Given the description of an element on the screen output the (x, y) to click on. 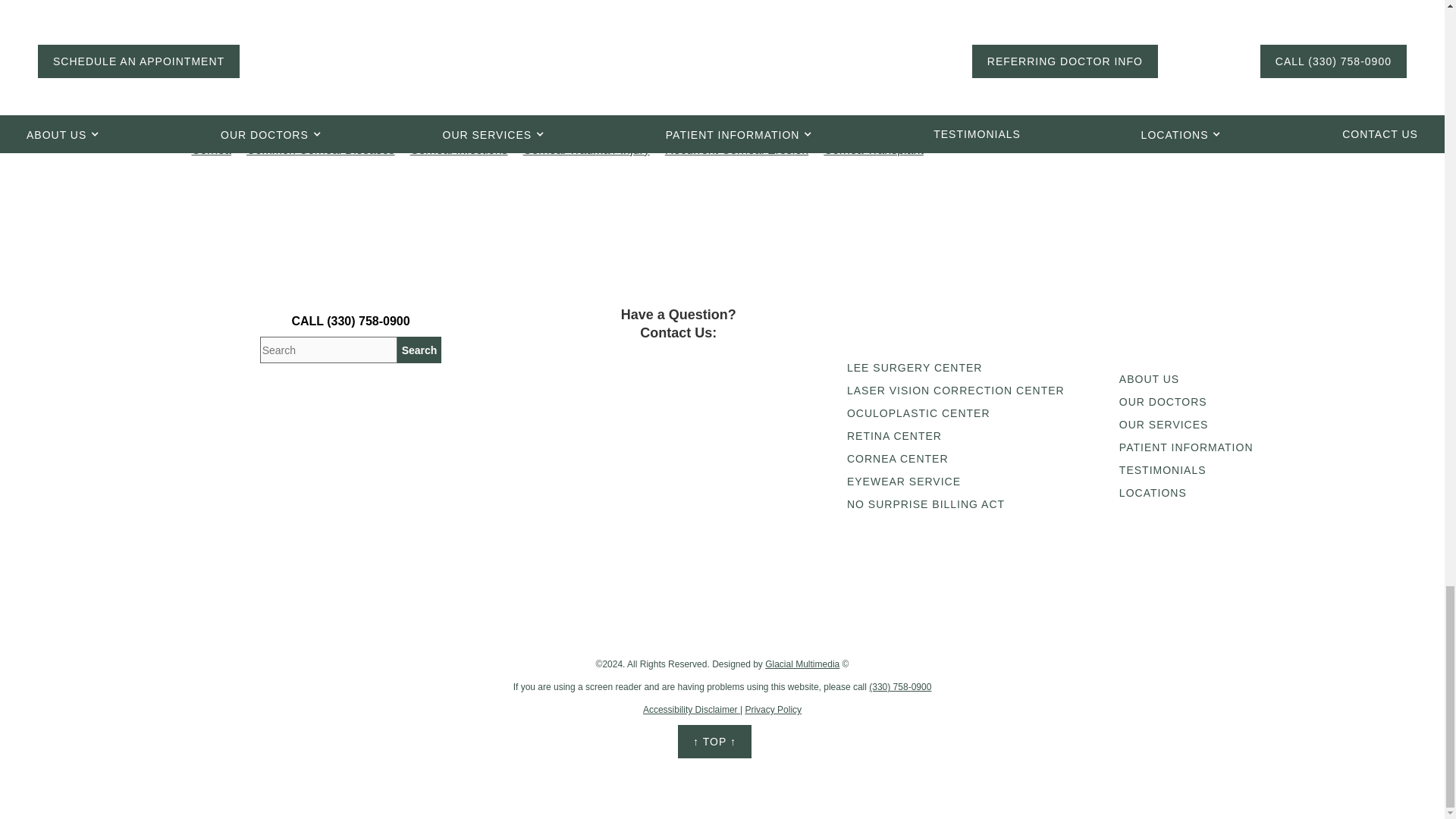
Search (419, 349)
Search (419, 349)
